Given the description of an element on the screen output the (x, y) to click on. 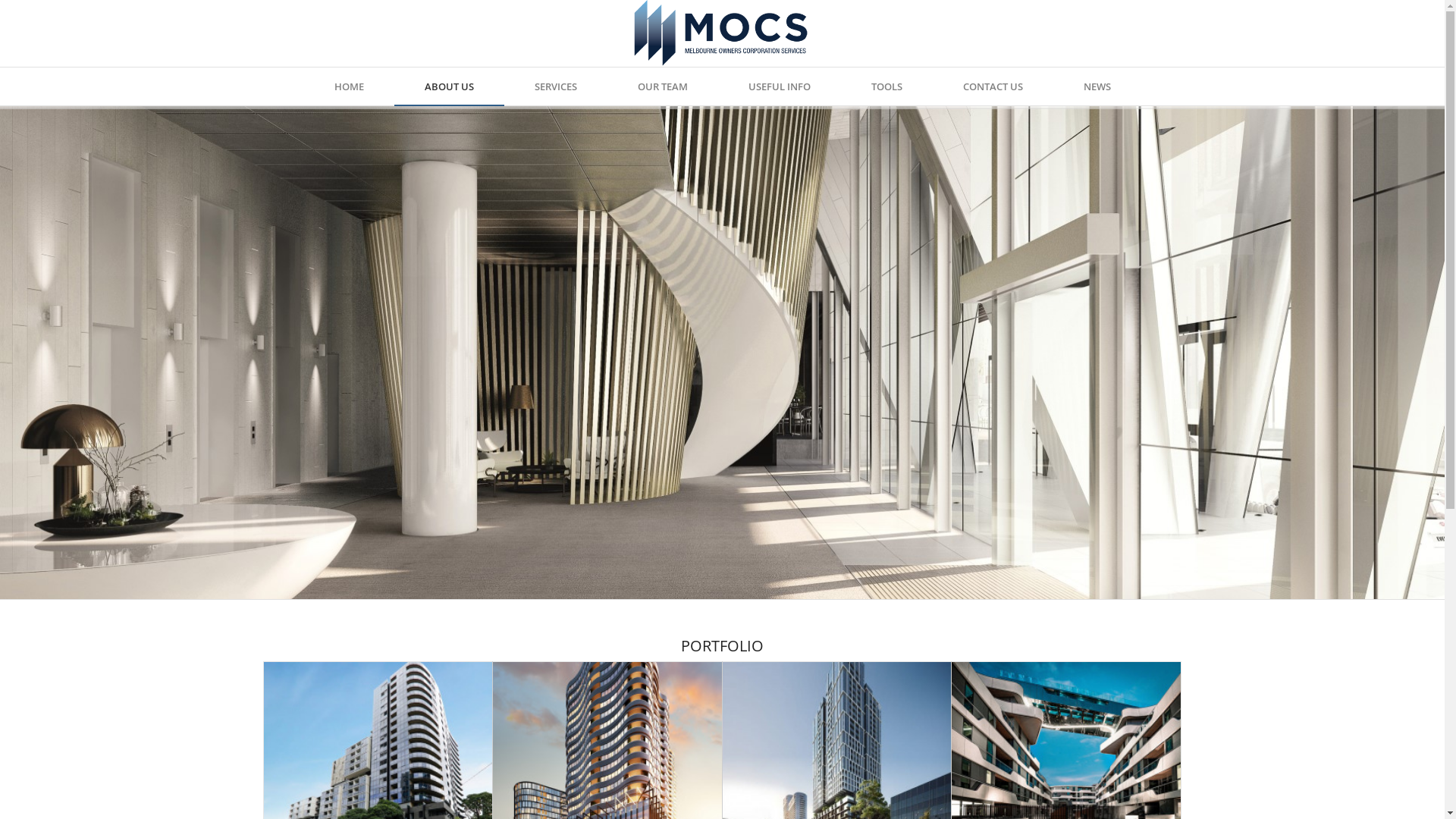
ABOUT US Element type: text (449, 86)
logo3 Element type: hover (721, 33)
CONTACT US Element type: text (992, 86)
OUR TEAM Element type: text (661, 86)
SERVICES Element type: text (554, 86)
NEWS Element type: text (1096, 86)
TOOLS Element type: text (885, 86)
HOME Element type: text (348, 86)
USEFUL INFO Element type: text (778, 86)
